Given the description of an element on the screen output the (x, y) to click on. 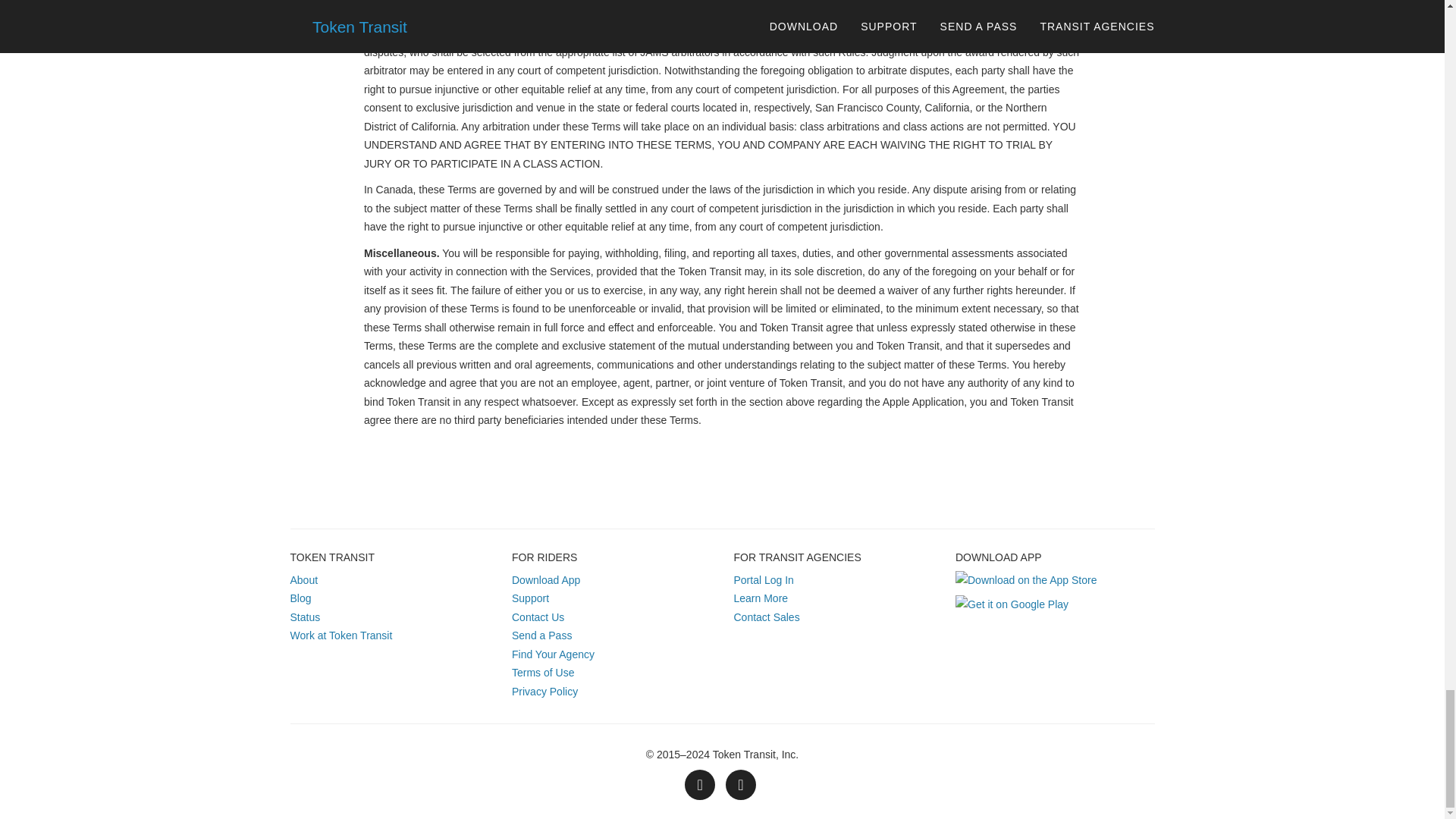
Support (530, 598)
Privacy Policy (545, 691)
Contact Sales (766, 616)
Portal Log In (763, 580)
Terms of Use (542, 672)
Download App (545, 580)
Work at Token Transit (340, 635)
Send a Pass (542, 635)
About (303, 580)
Blog (300, 598)
Contact Us (538, 616)
Status (304, 616)
Find Your Agency (553, 654)
Learn More (761, 598)
